Given the description of an element on the screen output the (x, y) to click on. 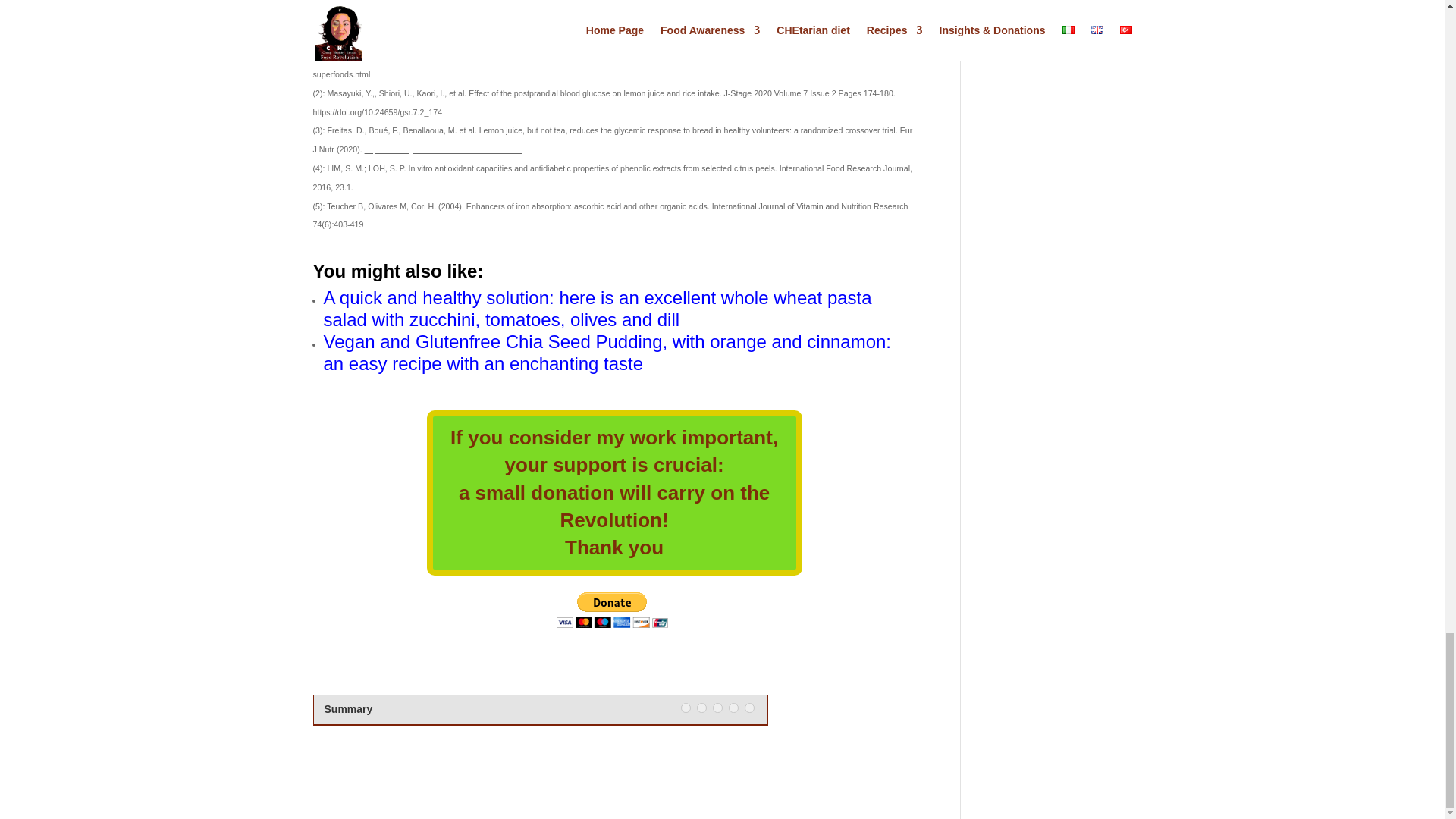
5 (749, 707)
PayPal - The safer, easier way to pay online! (612, 610)
3 (717, 707)
1 (685, 707)
4 (733, 707)
2 (700, 707)
